Given the description of an element on the screen output the (x, y) to click on. 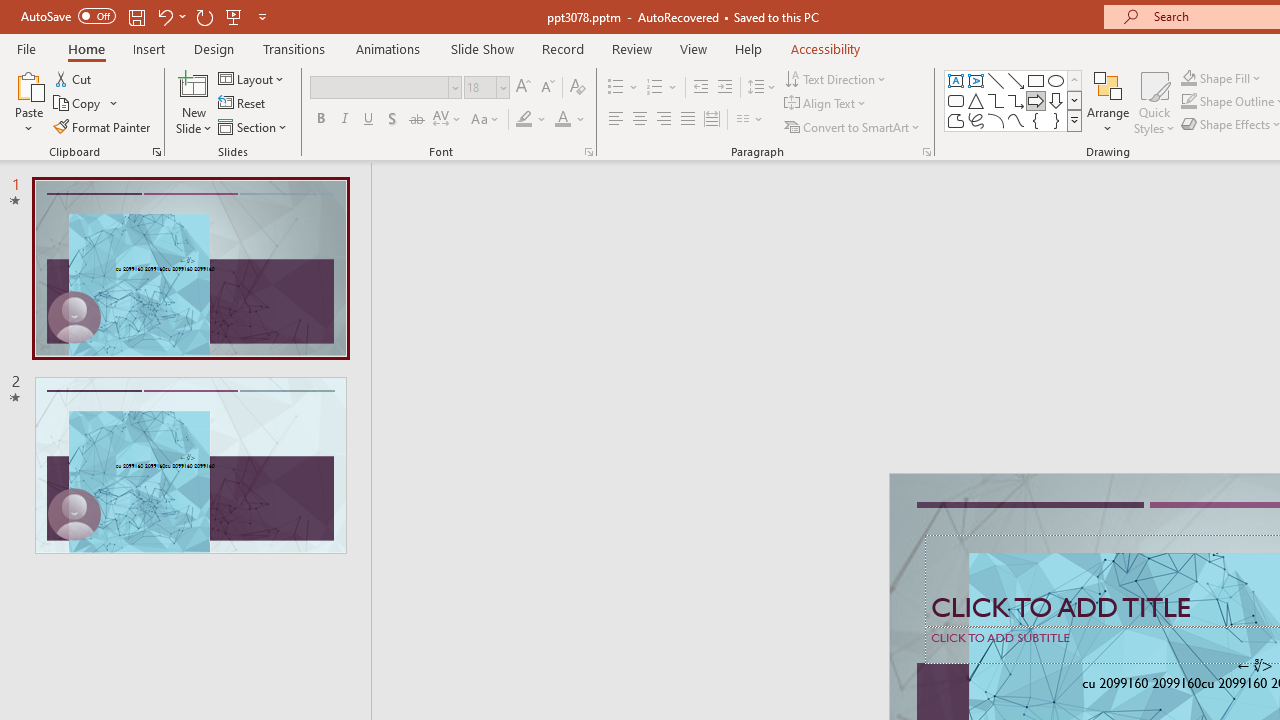
TextBox 7 (1254, 666)
